Given the description of an element on the screen output the (x, y) to click on. 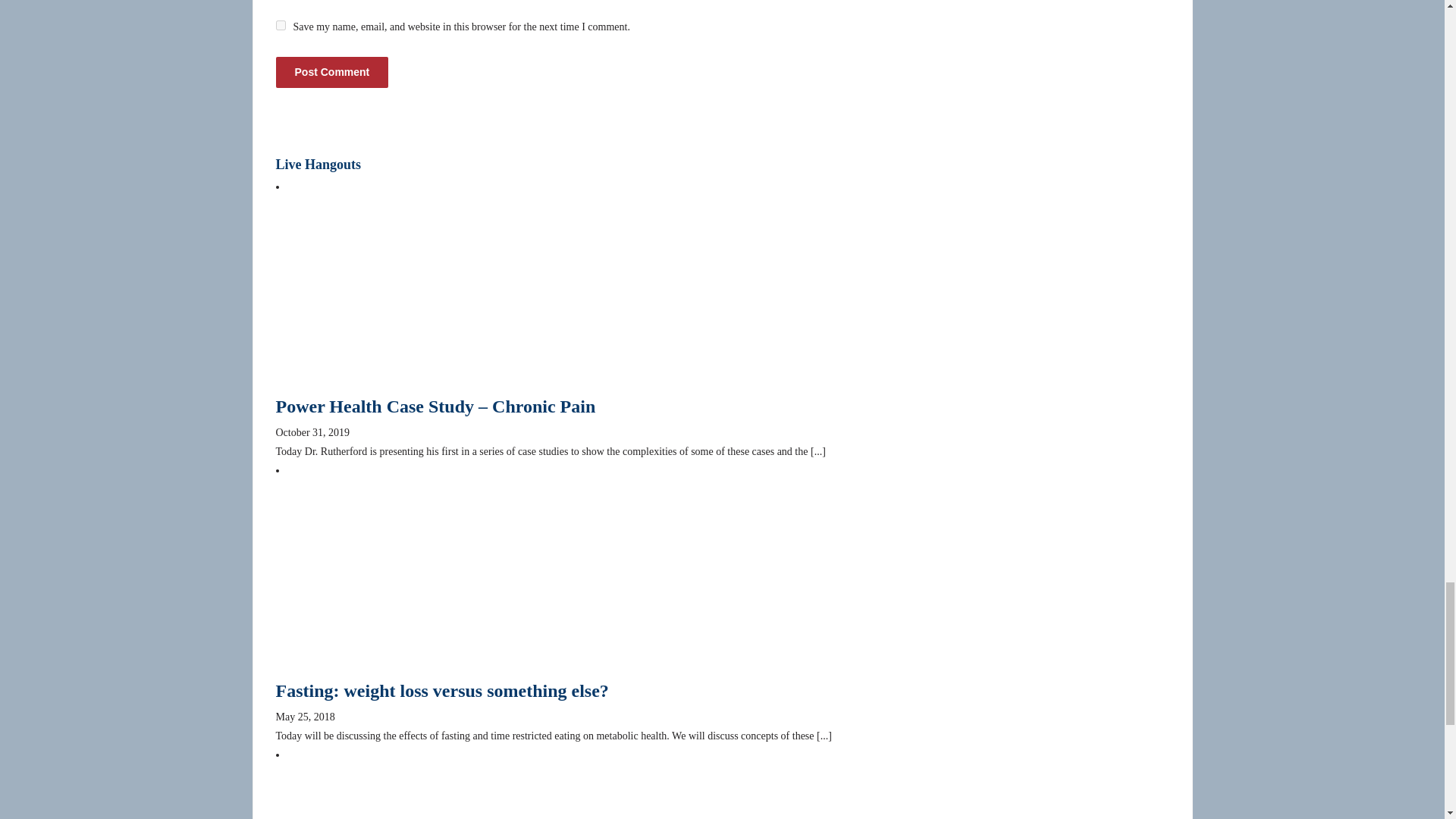
Fasting: weight loss versus something else? (442, 690)
yes (280, 25)
Live Hangouts (318, 164)
Fasting: weight loss versus something else? (442, 690)
Fasting: weight loss versus something else? (373, 576)
Post Comment (332, 71)
Post Comment (332, 71)
